Given the description of an element on the screen output the (x, y) to click on. 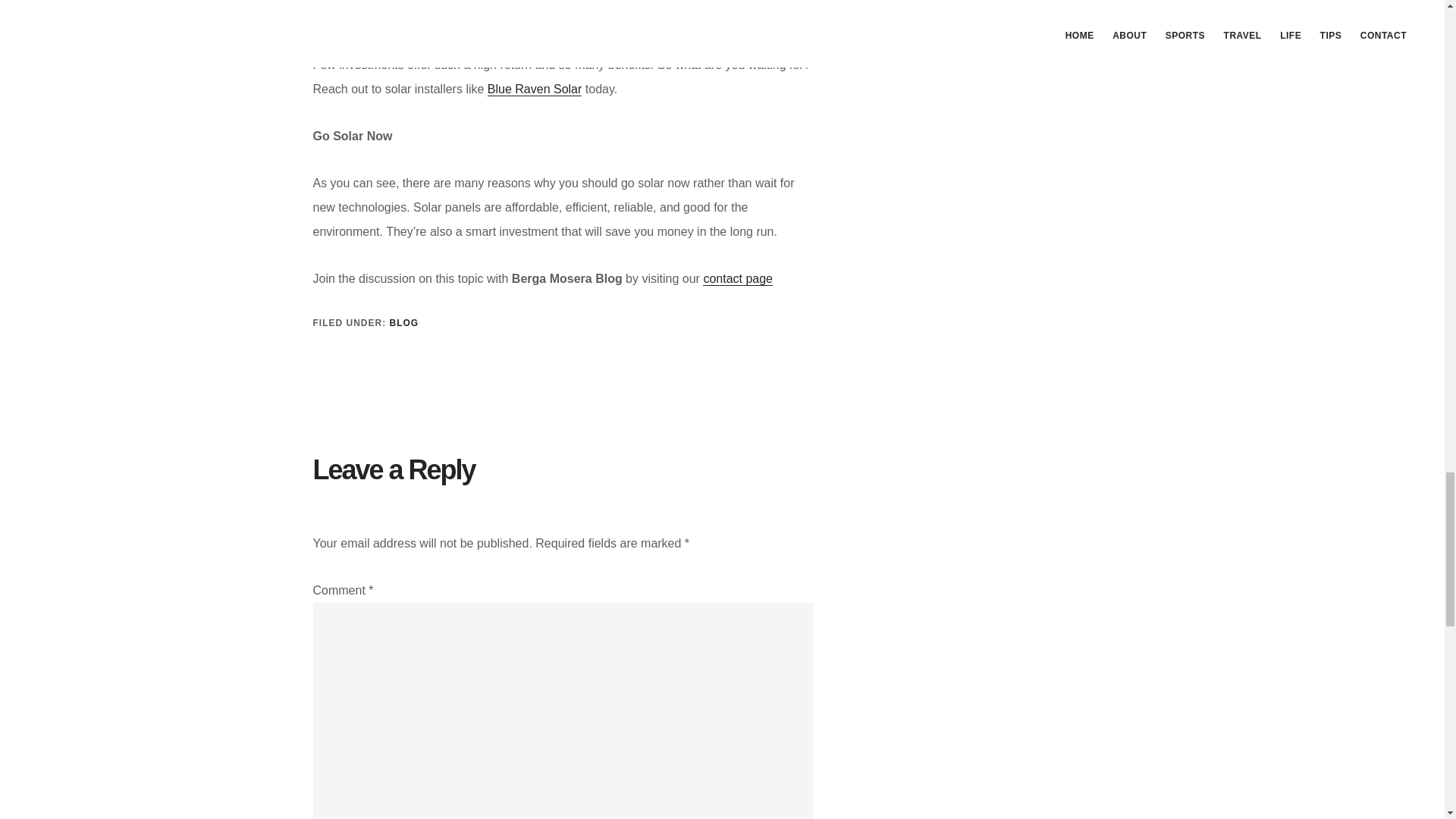
contact page (738, 278)
Blue Raven Solar (534, 89)
BLOG (404, 322)
